Given the description of an element on the screen output the (x, y) to click on. 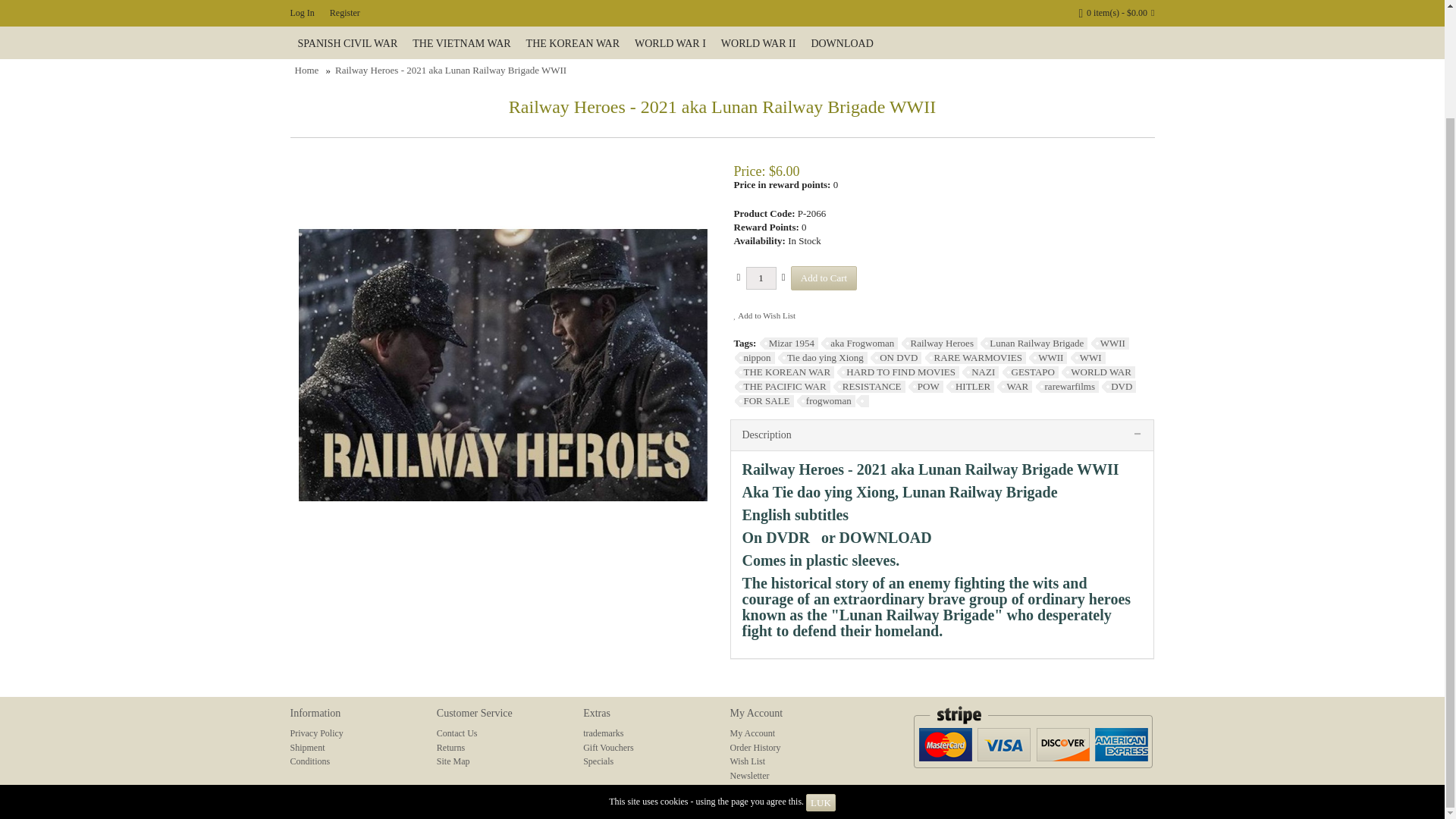
WWII (1109, 343)
THE VIETNAM WAR (461, 43)
WORLD WAR II (758, 43)
Mizar 1954 (788, 343)
WORLD WAR I (670, 43)
aka Frogwoman (859, 343)
Railway Heroes (938, 343)
ISRAELI CONFLICTS (723, 14)
RARE WARMOVIES (975, 357)
FOREIGN LEGION (492, 14)
